Given the description of an element on the screen output the (x, y) to click on. 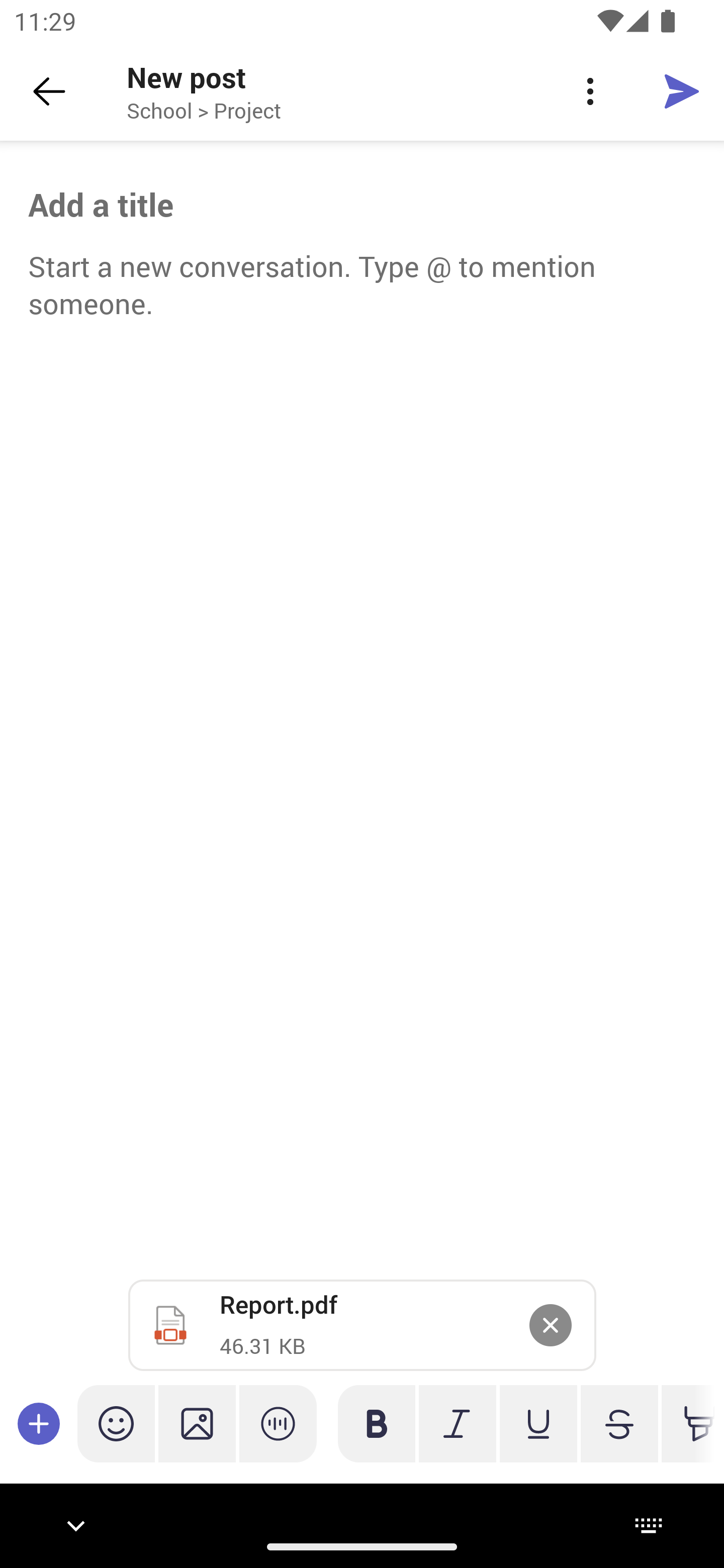
Back (49, 91)
Email options (589, 91)
Send message (681, 90)
Add a title (362, 204)
Report.pdf 46.31 KB Remove attachment (362, 1324)
Remove attachment (549, 1324)
Compose options, expanded (38, 1423)
GIFs and emojis picker (115, 1423)
Media (197, 1423)
Record audio message (278, 1423)
Bold (376, 1423)
Italic (456, 1423)
Underline (538, 1423)
Strikethrough (619, 1423)
Select text highlight color (688, 1423)
